Given the description of an element on the screen output the (x, y) to click on. 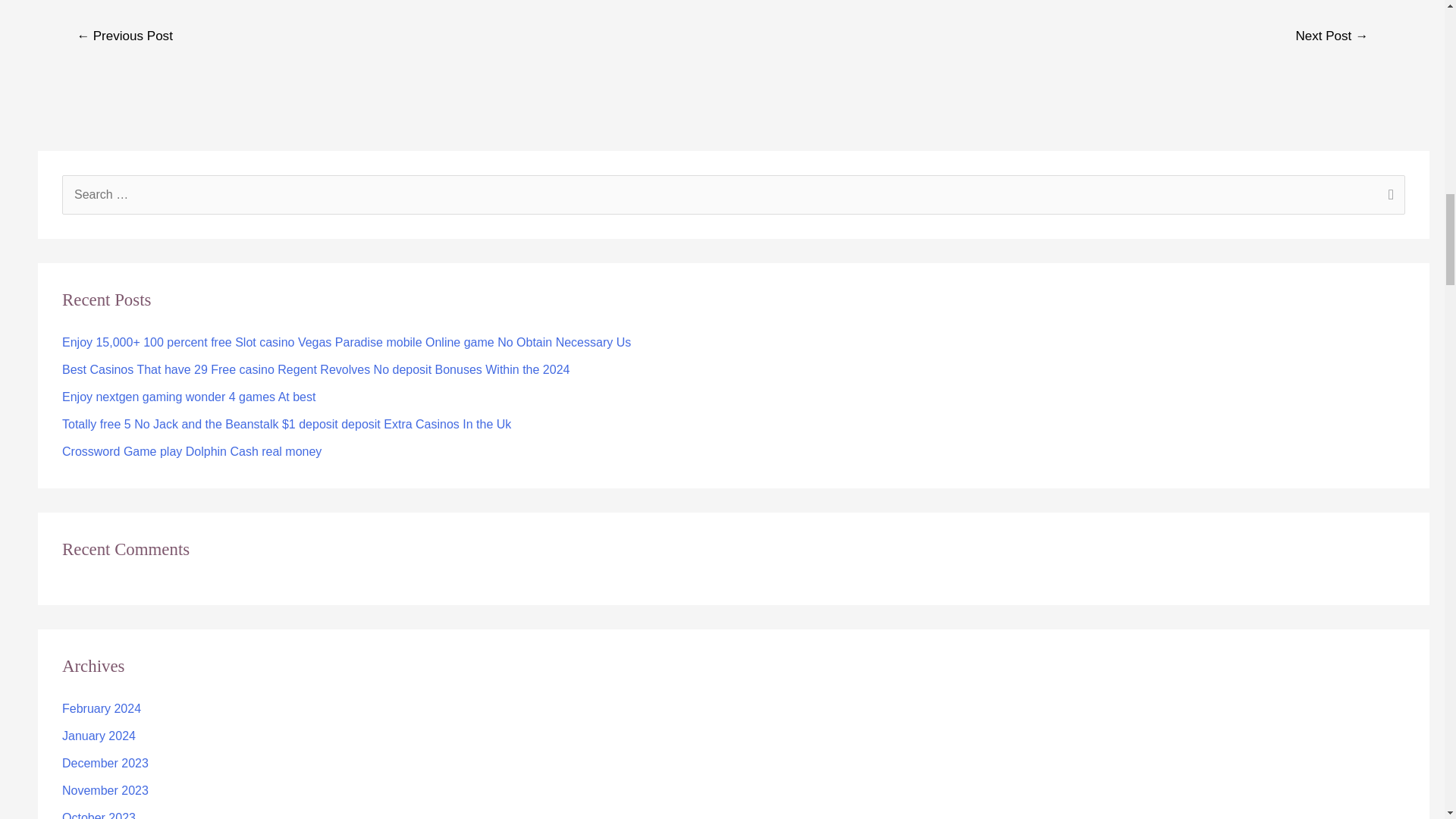
February 2024 (101, 707)
Enjoy nextgen gaming wonder 4 games At best (188, 396)
January 2024 (98, 735)
Crossword Game play Dolphin Cash real money (191, 451)
December 2023 (105, 762)
